Given the description of an element on the screen output the (x, y) to click on. 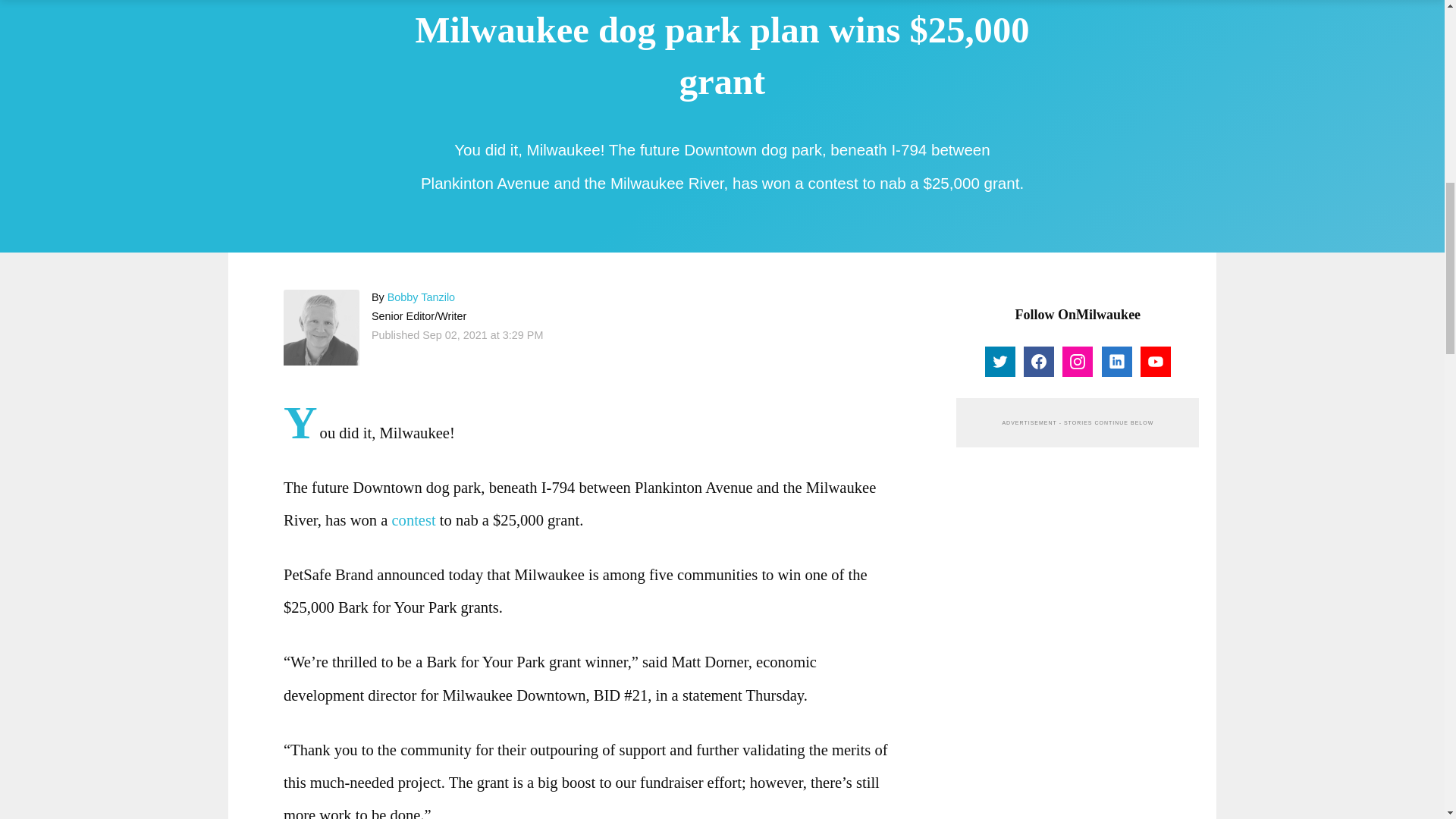
Twitter icon (999, 360)
More articles by Bobby Tanzilo (420, 297)
Bobby Tanzilo (420, 297)
Instagram icon (1077, 361)
Bobby Tanzilo (321, 327)
Facebook icon (1038, 361)
contest (413, 519)
